Given the description of an element on the screen output the (x, y) to click on. 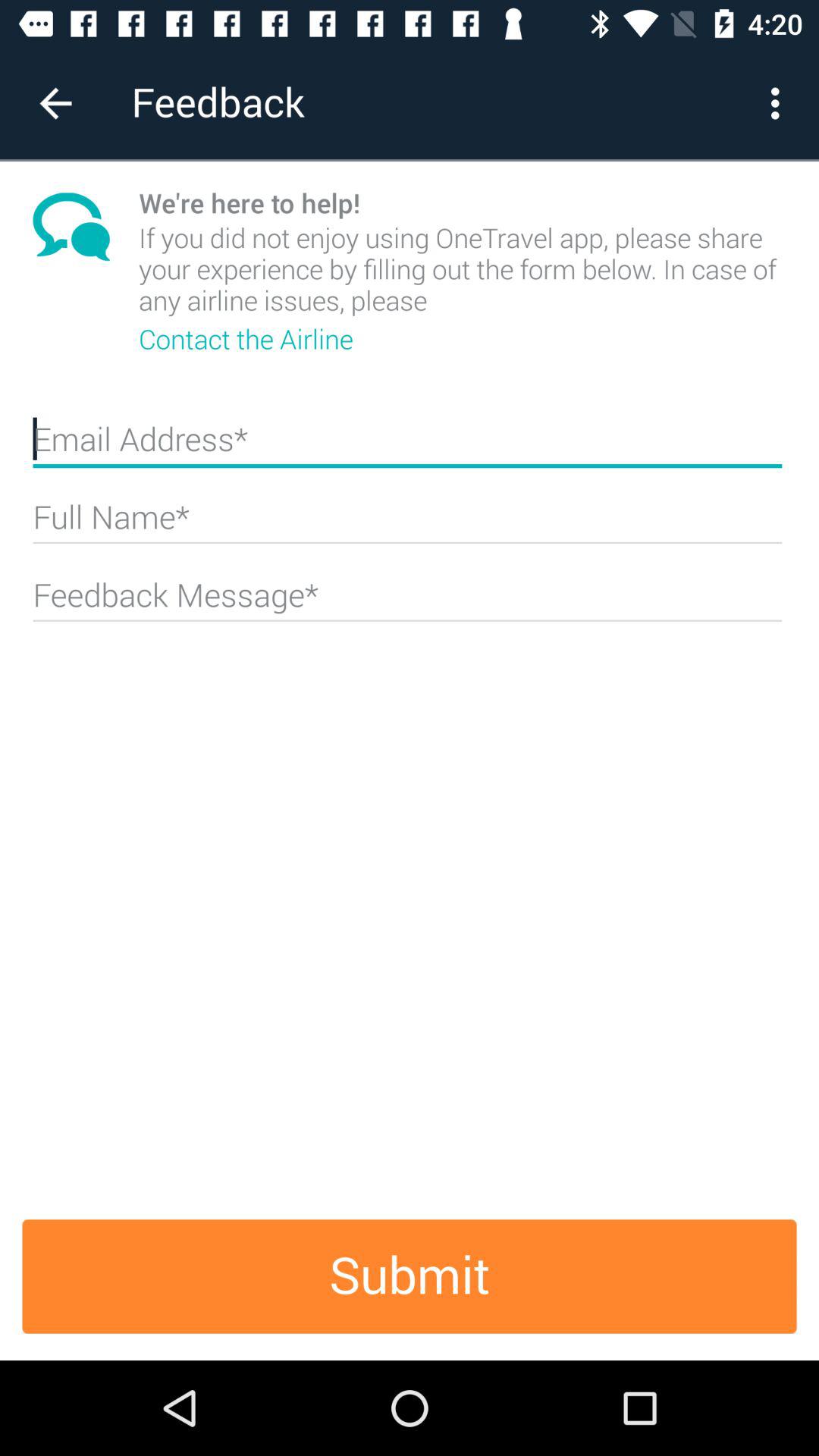
add specific text (407, 601)
